Given the description of an element on the screen output the (x, y) to click on. 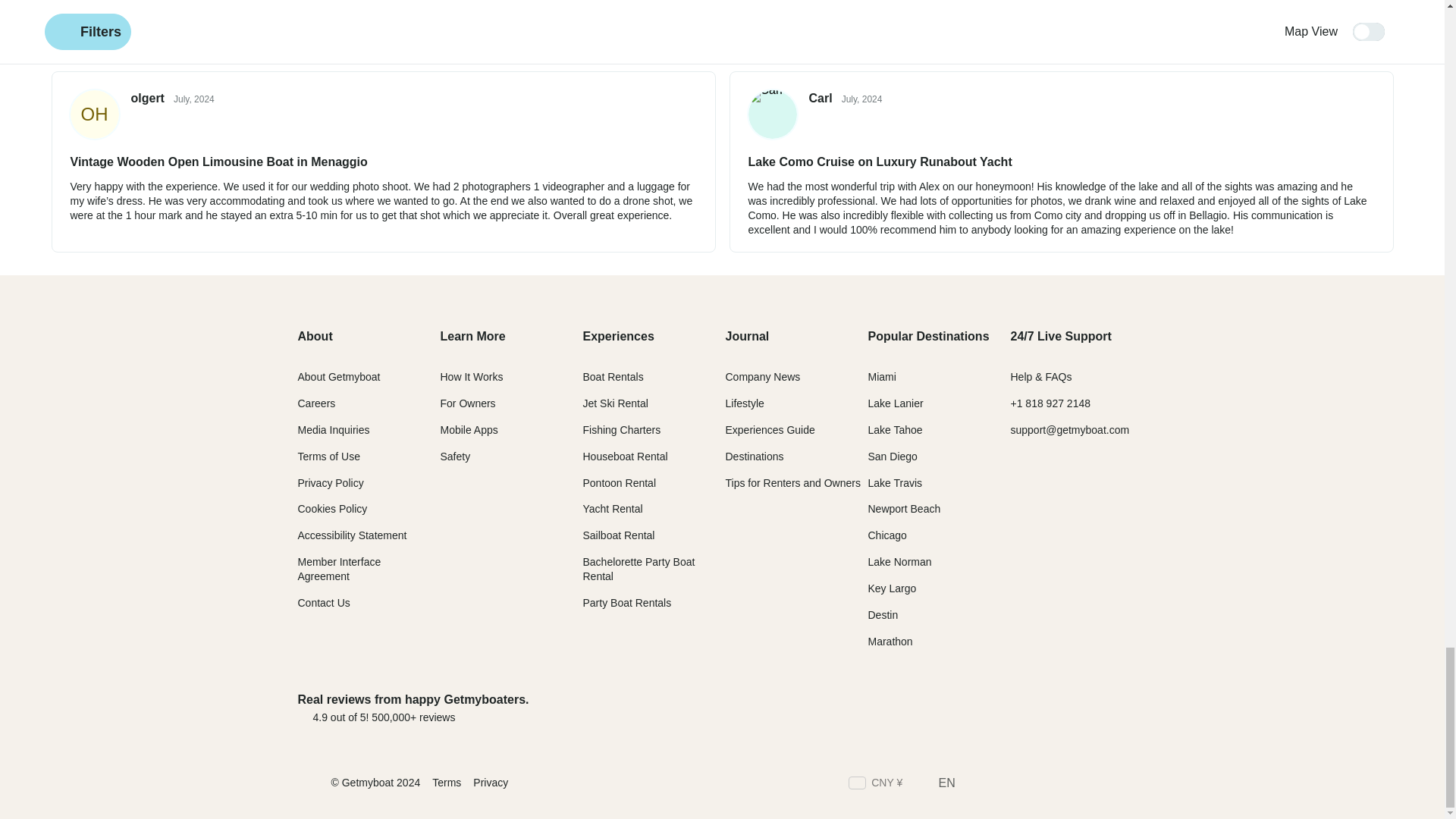
YouTube (1139, 784)
Get it on Google Play (1096, 707)
Facebook (975, 784)
LinkedIn (1056, 784)
Download on the App Store (977, 707)
Pinterest (1111, 784)
TikTok (1084, 784)
Twitter (1002, 784)
Instagram (1029, 784)
